Given the description of an element on the screen output the (x, y) to click on. 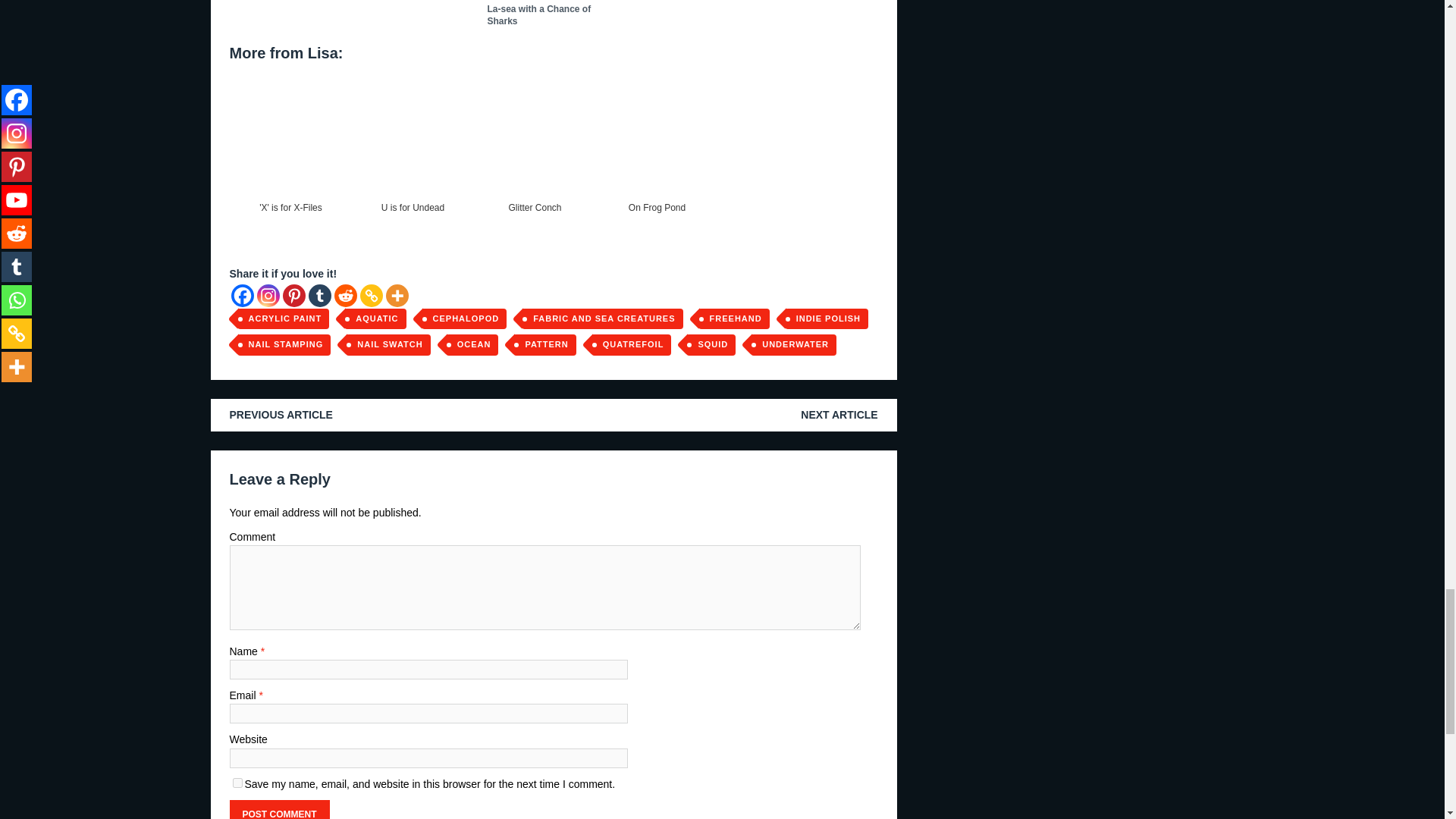
More (396, 295)
Pinterest (293, 295)
Instagram (267, 295)
Tumblr (318, 295)
Reddit (344, 295)
Post Comment (278, 809)
Facebook (241, 295)
Copy Link (370, 295)
yes (236, 782)
